Given the description of an element on the screen output the (x, y) to click on. 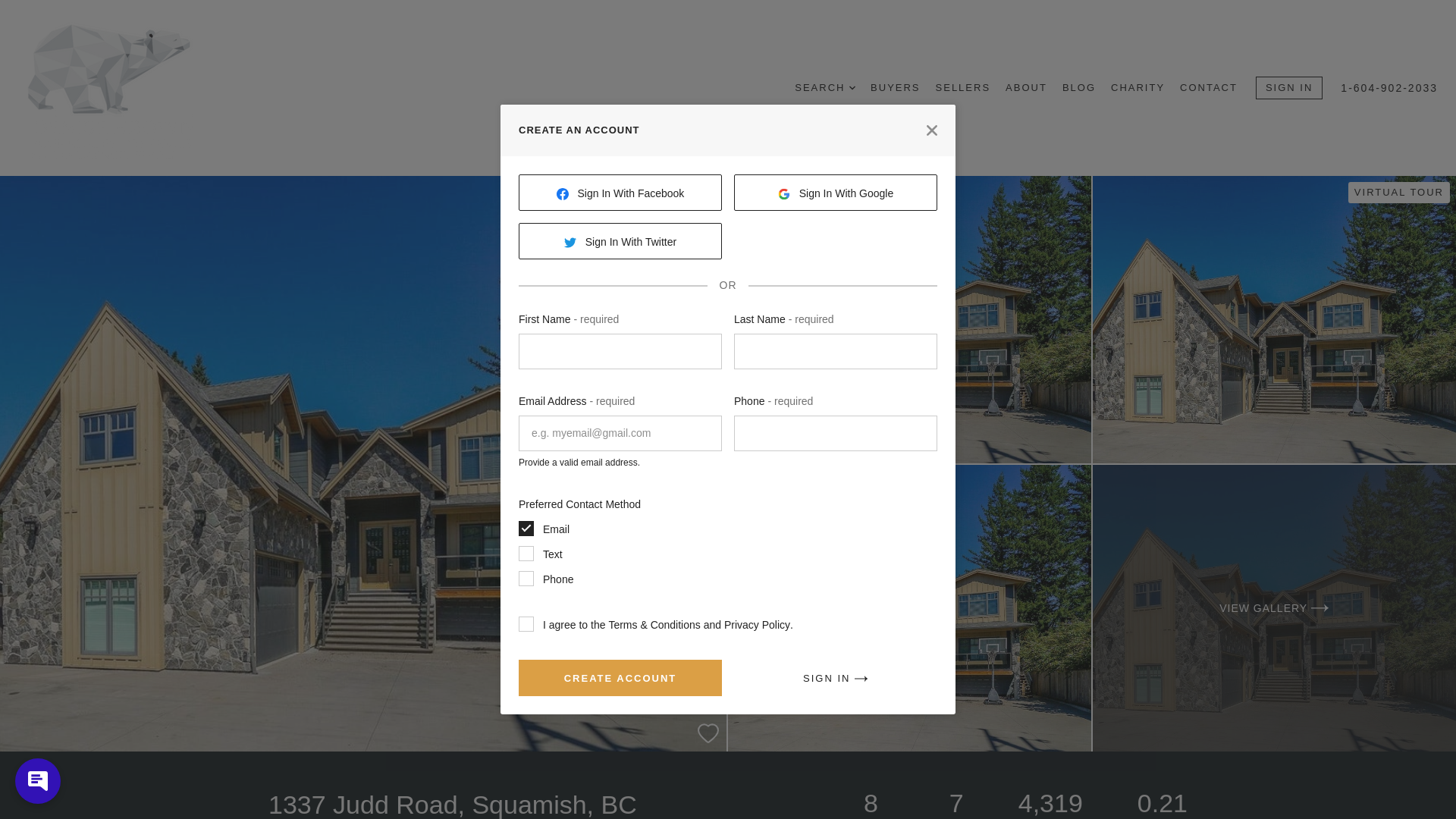
phone (526, 578)
DROPDOWN ARROW (852, 87)
Conversations (34, 788)
SEARCH DROPDOWN ARROW (825, 88)
BUYERS (895, 88)
1-604-902-2033 (1389, 88)
text (526, 553)
ABOUT (1026, 88)
BLOG (1079, 88)
SELLERS (963, 88)
